Given the description of an element on the screen output the (x, y) to click on. 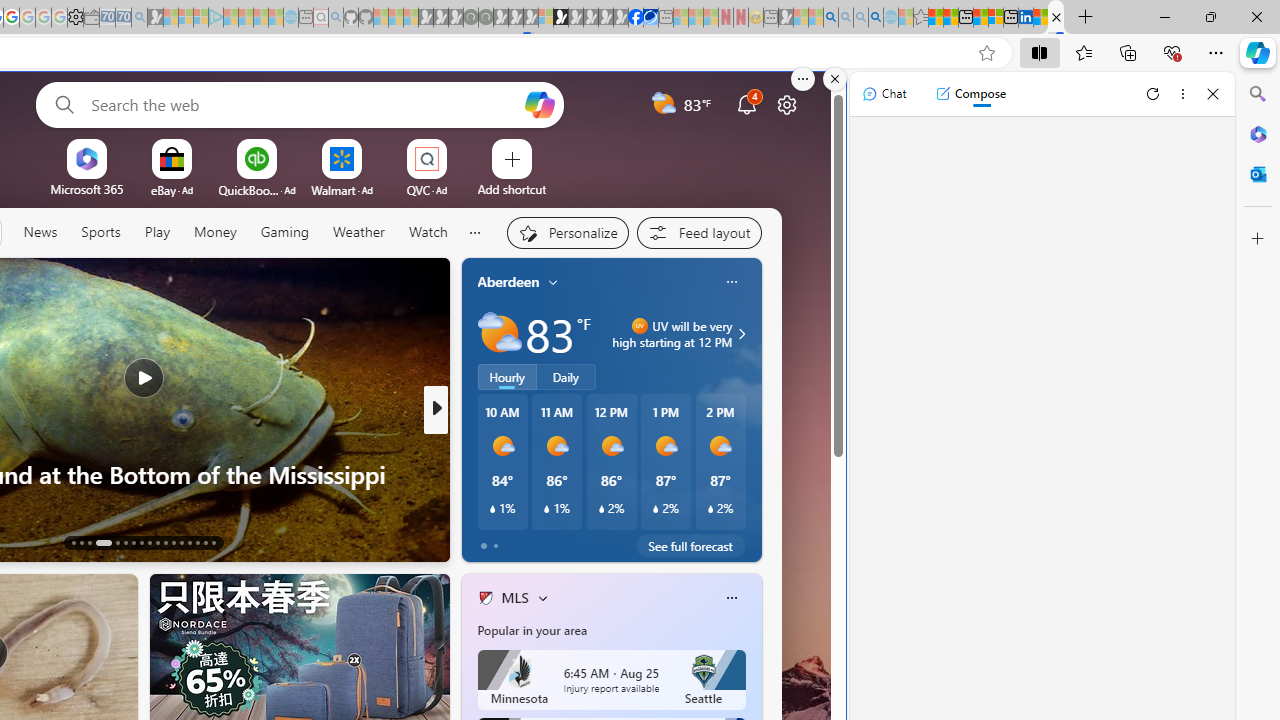
LinkedIn (1025, 17)
69 Like (487, 541)
previous (471, 409)
AutomationID: tab-28 (204, 542)
Enter your search term (303, 104)
